Given the description of an element on the screen output the (x, y) to click on. 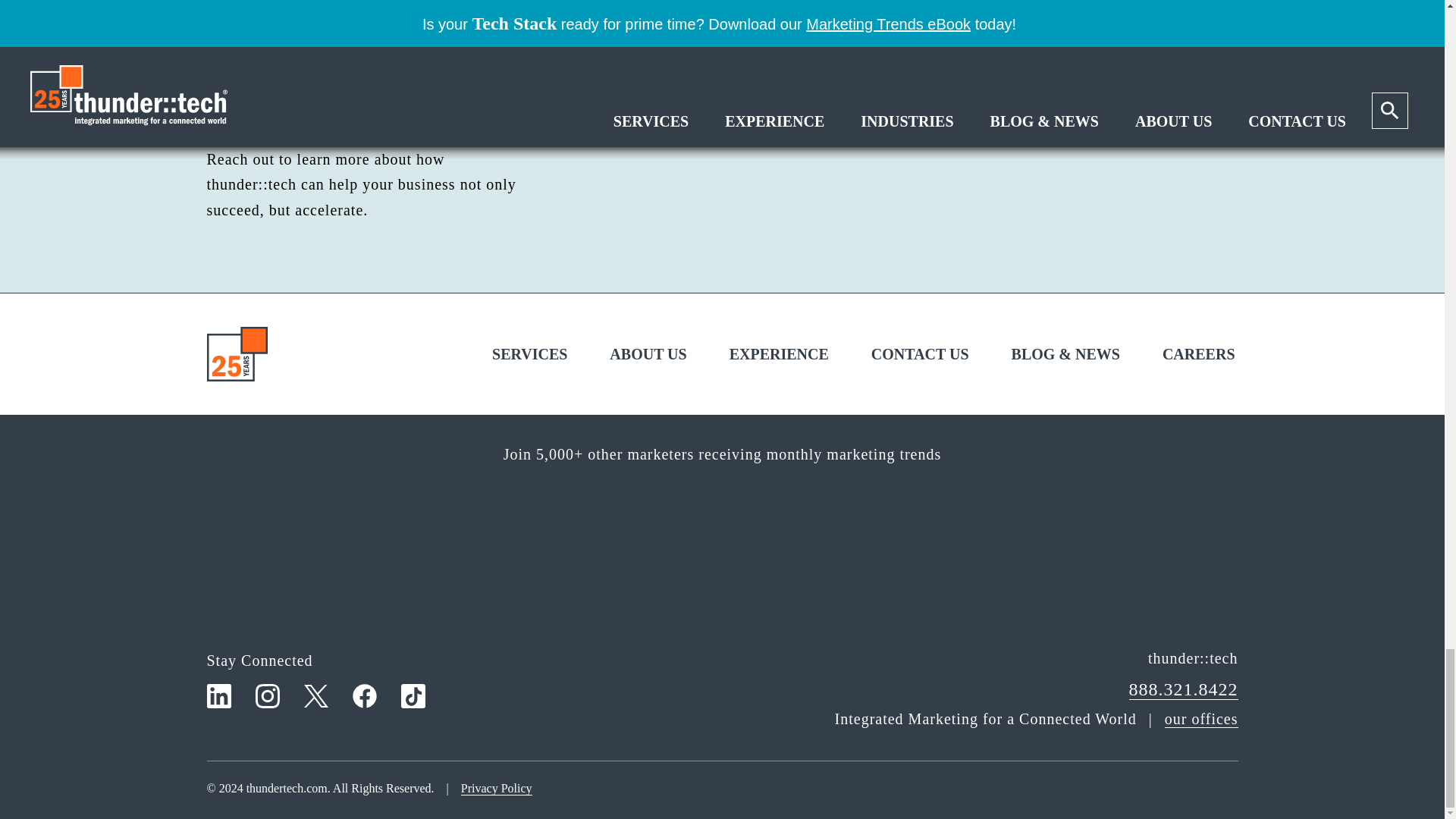
CAREERS (1198, 353)
EXPERIENCE (1027, 15)
SERVICES (778, 353)
CONTACT US (529, 353)
See All Experiences (919, 353)
ABOUT US (722, 13)
